Given the description of an element on the screen output the (x, y) to click on. 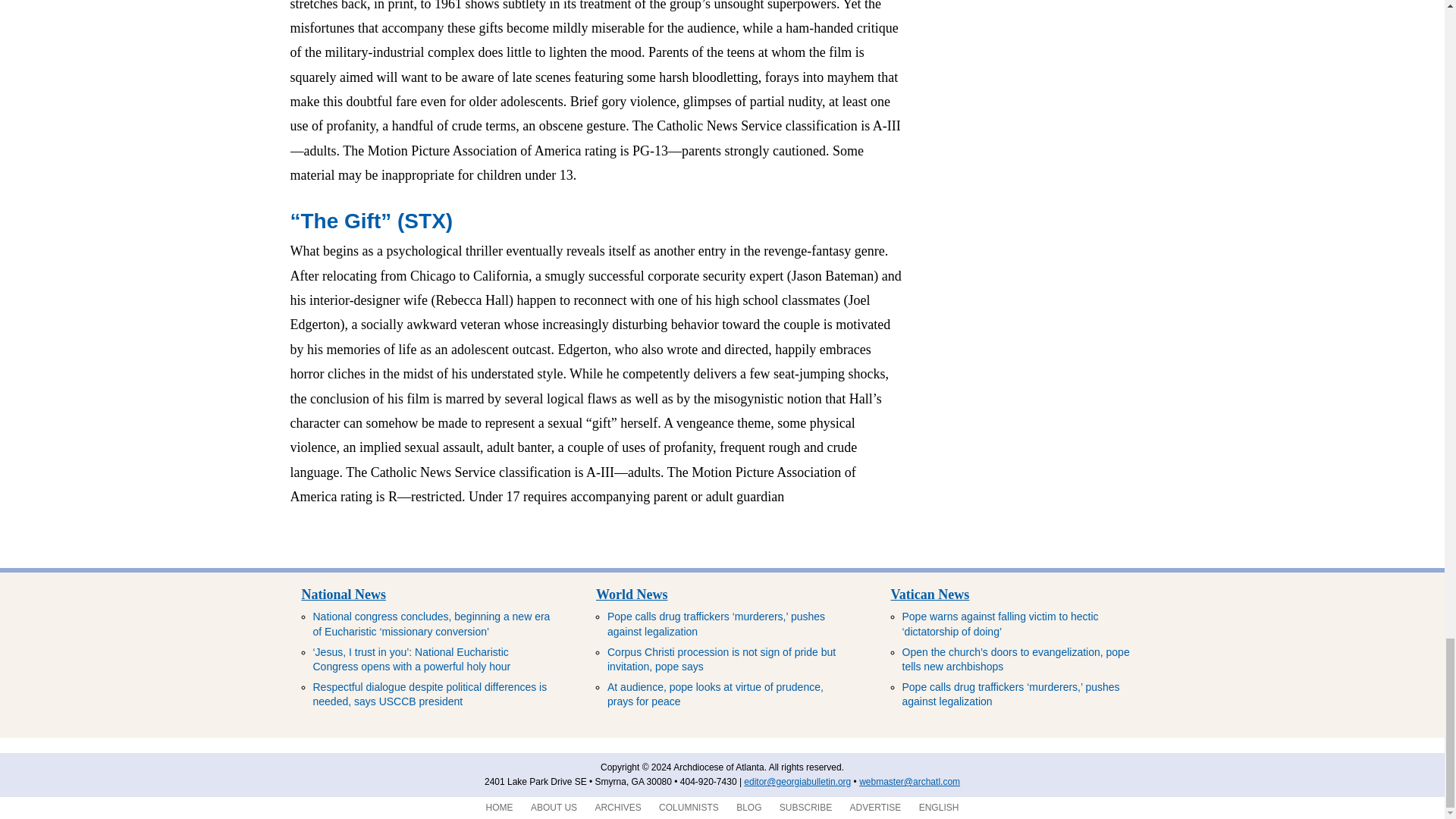
English (938, 807)
